Given the description of an element on the screen output the (x, y) to click on. 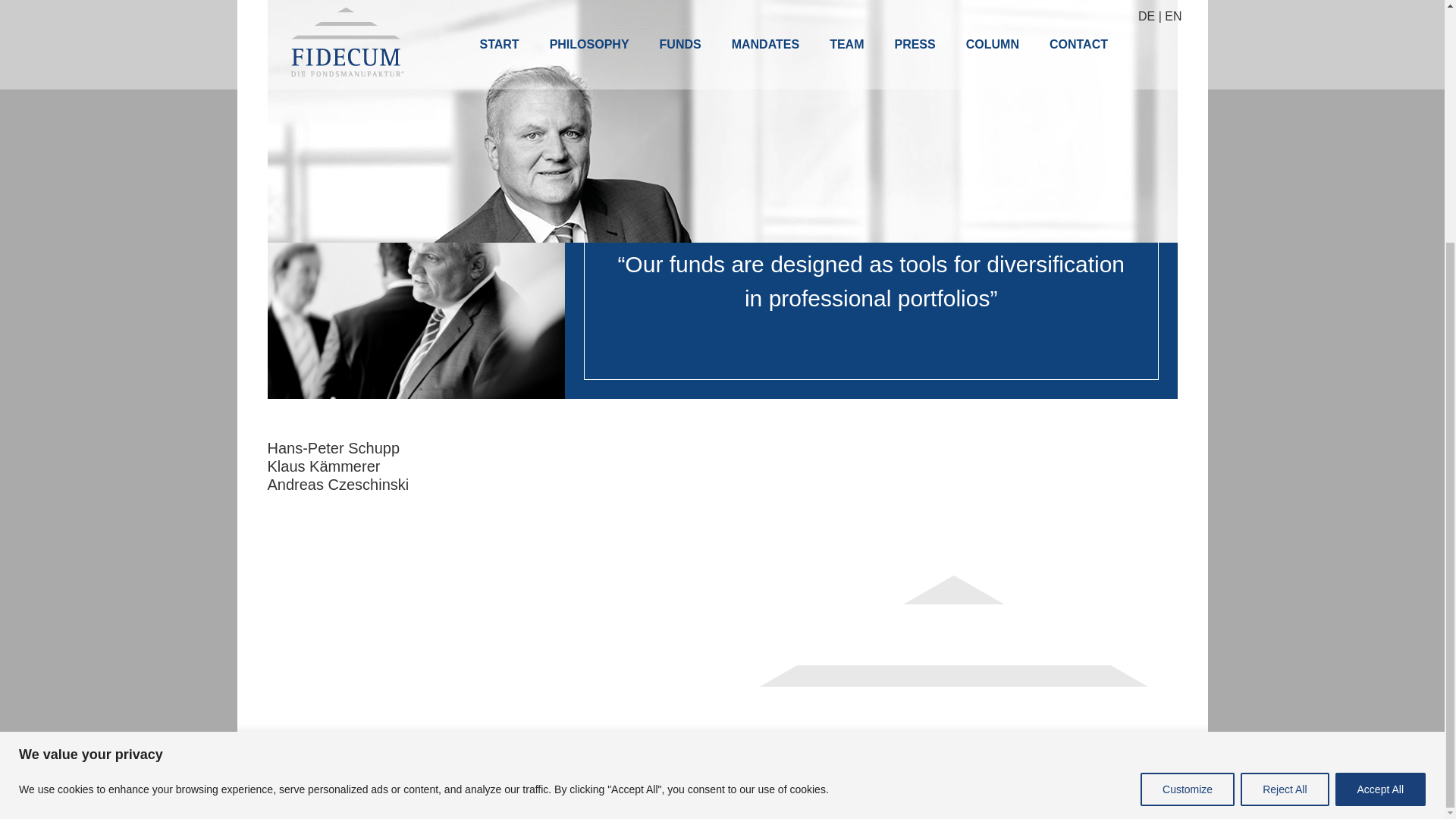
Reject All (1283, 453)
Accept All (1380, 453)
Customize (1187, 453)
